Given the description of an element on the screen output the (x, y) to click on. 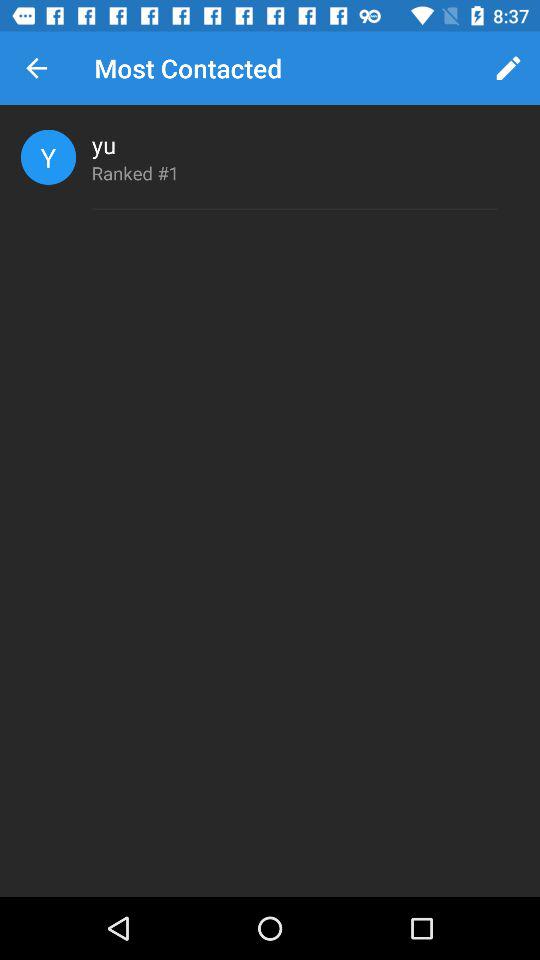
tap the icon to the left of most contacted item (36, 68)
